Given the description of an element on the screen output the (x, y) to click on. 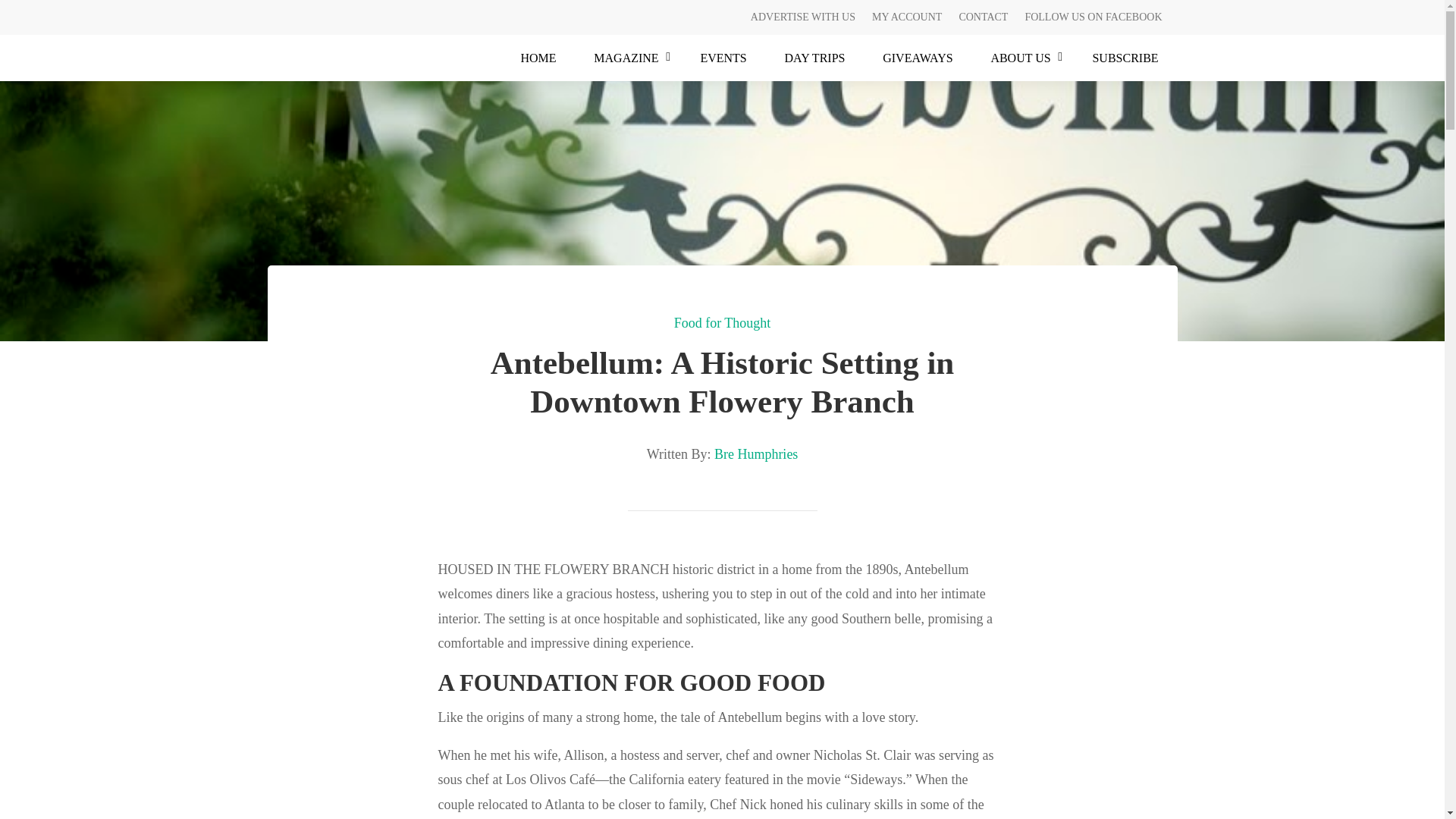
ABOUT US (1023, 57)
GIVEAWAYS (917, 57)
MAGAZINE (628, 57)
SUBSCRIBE (1125, 57)
FOLLOW US ON FACEBOOK (1093, 20)
HOME (538, 57)
Bre Humphries (755, 453)
Food for Thought (722, 322)
ADVERTISE WITH US (803, 20)
CONTACT (982, 20)
